Given the description of an element on the screen output the (x, y) to click on. 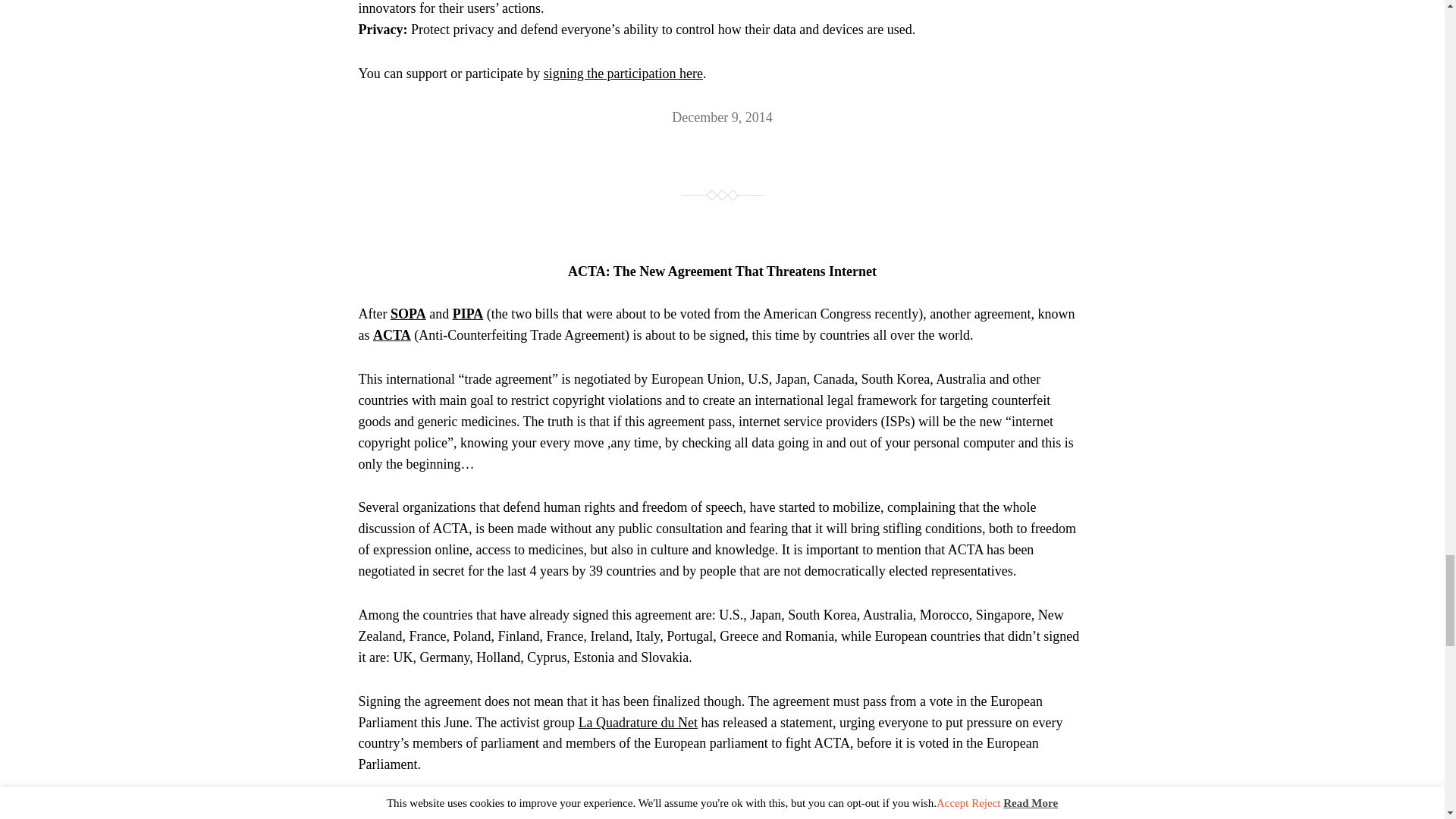
ACTA: The New Agreement That Threatens Internet (721, 271)
signing the participation here (623, 73)
December 9, 2014 (721, 117)
SOPA (408, 313)
PIPA (467, 313)
